Given the description of an element on the screen output the (x, y) to click on. 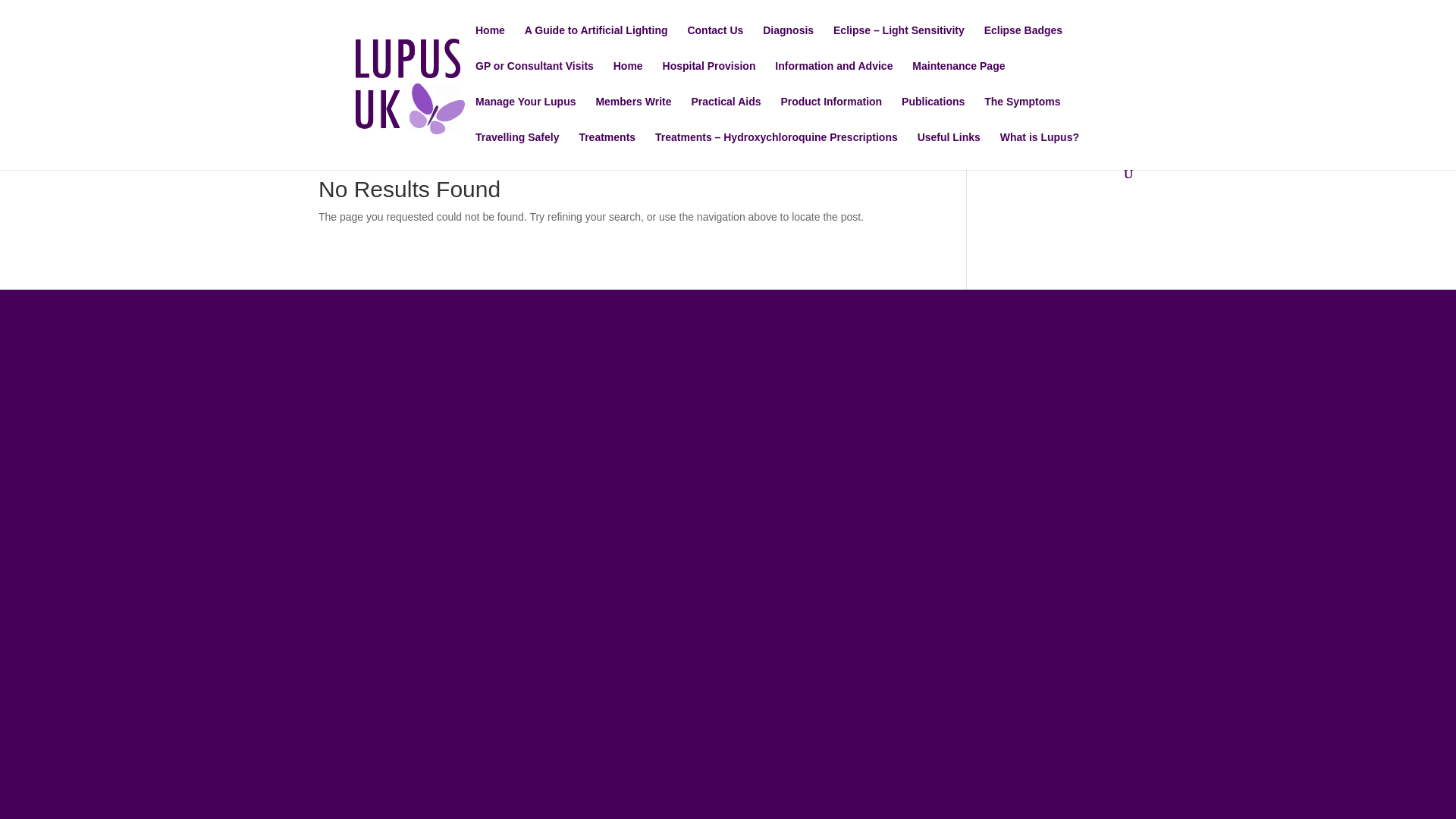
What is Lupus? (1039, 149)
Practical Aids (725, 113)
GP or Consultant Visits (535, 78)
Information and Advice (833, 78)
Treatments (606, 149)
Travelling Safely (517, 149)
Manage Your Lupus (526, 113)
Product Information (831, 113)
A Guide to Artificial Lighting (596, 42)
Publications (932, 113)
